Given the description of an element on the screen output the (x, y) to click on. 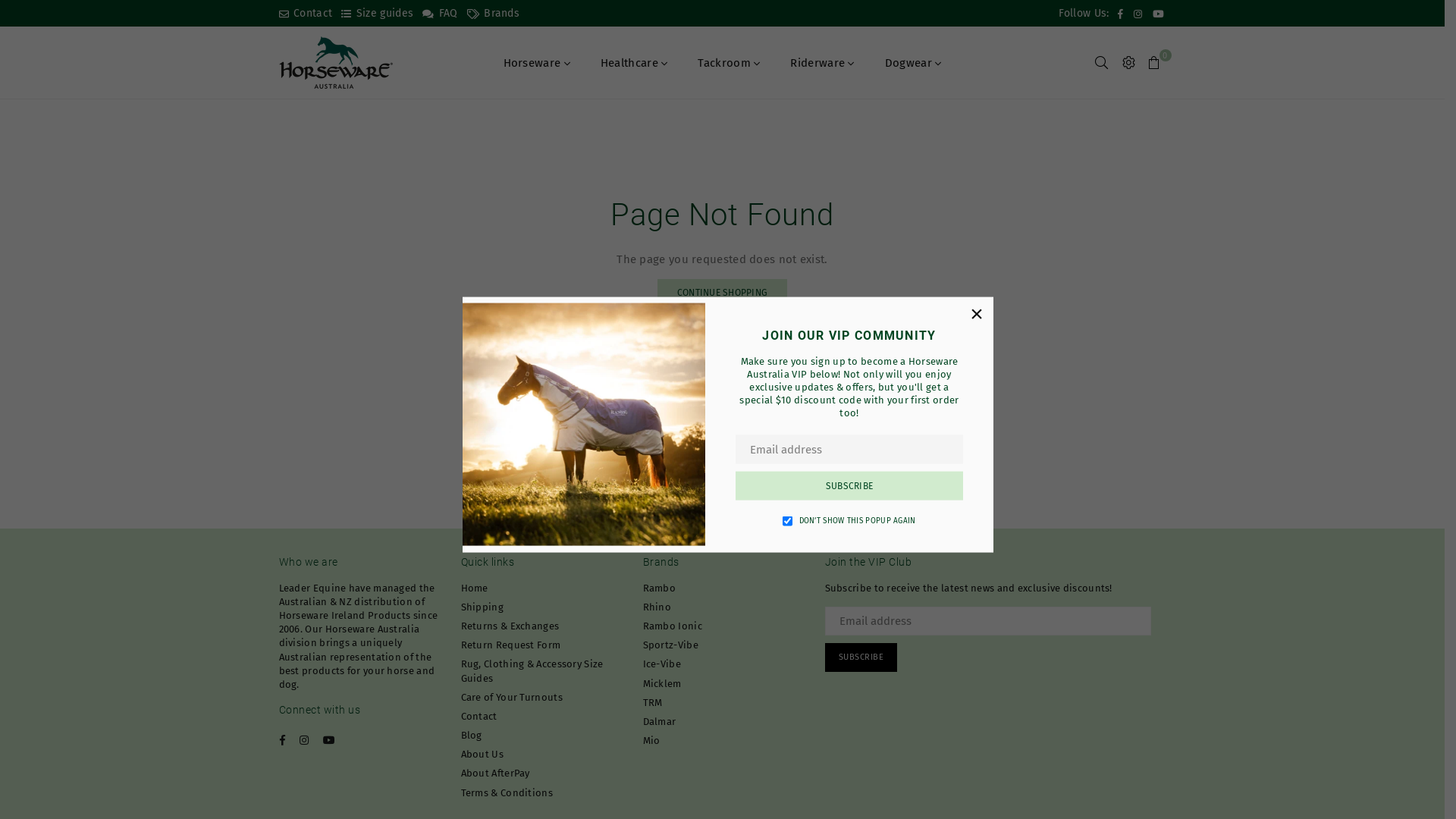
Shipping Element type: text (482, 606)
Ice-Vibe Element type: text (661, 663)
CONTINUE SHOPPING Element type: text (722, 292)
0 Element type: text (1153, 62)
Rambo Ionic Element type: text (672, 625)
Rhino Element type: text (657, 606)
Return Request Form Element type: text (511, 644)
Search Element type: hover (1101, 62)
Size guides Element type: text (377, 12)
Care of Your Turnouts Element type: text (511, 696)
Instagram Element type: text (303, 739)
SUBSCRIBE Element type: text (861, 657)
Tackroom Element type: text (728, 62)
Sportz-Vibe Element type: text (670, 644)
YouTube Element type: text (328, 739)
Micklem Element type: text (662, 683)
Settings Element type: hover (1128, 62)
YouTube Element type: text (1158, 13)
Horseware Element type: text (535, 62)
Horseware Australia Element type: text (347, 62)
Blog Element type: text (471, 734)
Returns & Exchanges Element type: text (510, 625)
Brands Element type: text (493, 12)
Contact Element type: text (305, 12)
About Us Element type: text (482, 753)
About AfterPay Element type: text (495, 772)
Facebook Element type: text (282, 739)
Facebook Element type: text (1120, 13)
Dogwear Element type: text (913, 62)
TRM Element type: text (652, 702)
Mio Element type: text (651, 740)
FAQ Element type: text (440, 12)
Terms & Conditions Element type: text (506, 792)
Instagram Element type: text (1137, 13)
Contact Element type: text (479, 715)
SUBSCRIBE Element type: text (849, 484)
Home Element type: text (474, 587)
Rambo Element type: text (659, 587)
Healthcare Element type: text (634, 62)
Riderware Element type: text (821, 62)
Rug, Clothing & Accessory Size Guides Element type: text (532, 670)
Dalmar Element type: text (659, 721)
